Given the description of an element on the screen output the (x, y) to click on. 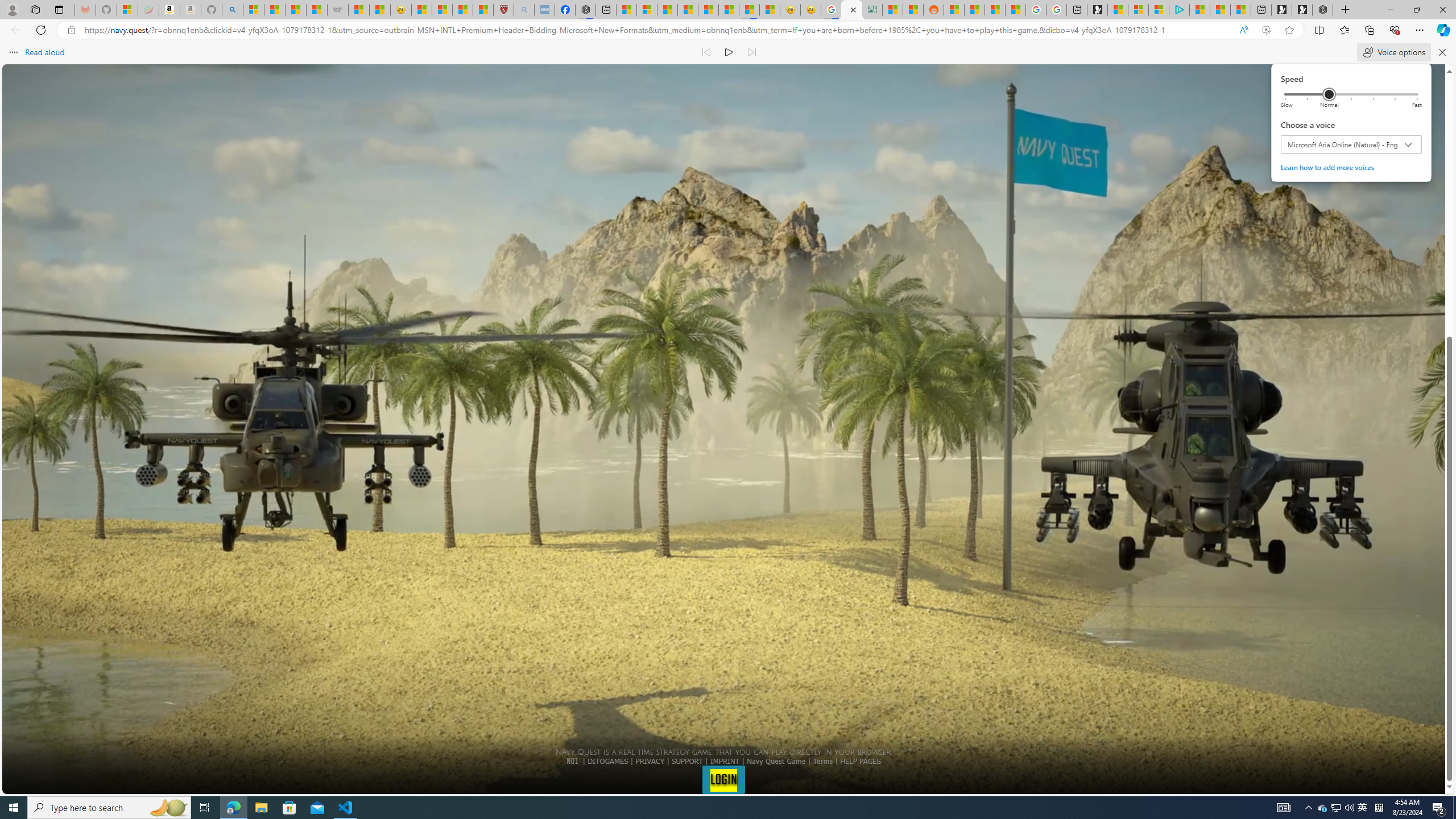
AutomationID: 4105 (1283, 807)
Action Center, 2 new notifications (1439, 807)
User Promoted Notification Area (1336, 807)
